Given the description of an element on the screen output the (x, y) to click on. 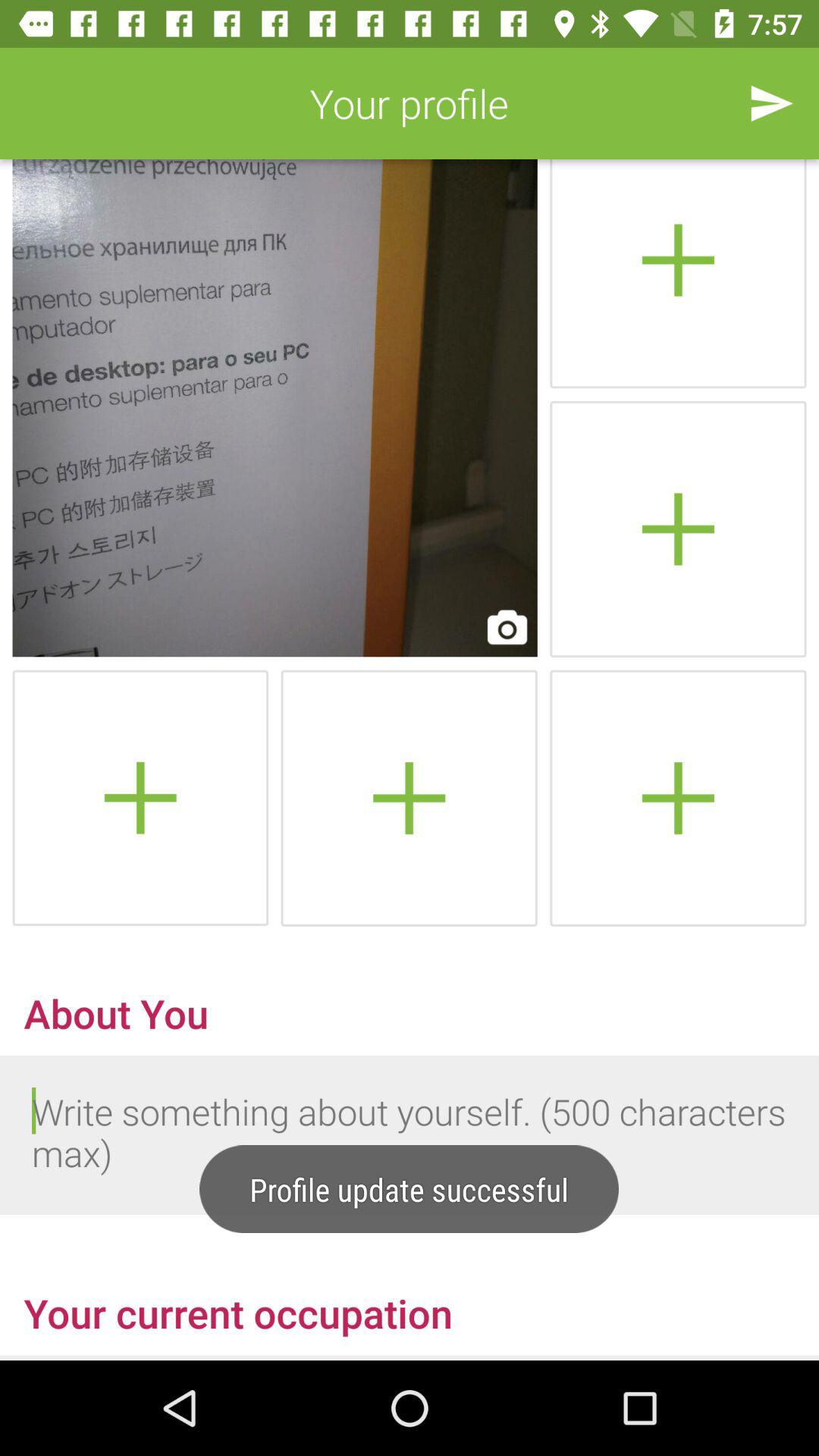
add photo (677, 528)
